Given the description of an element on the screen output the (x, y) to click on. 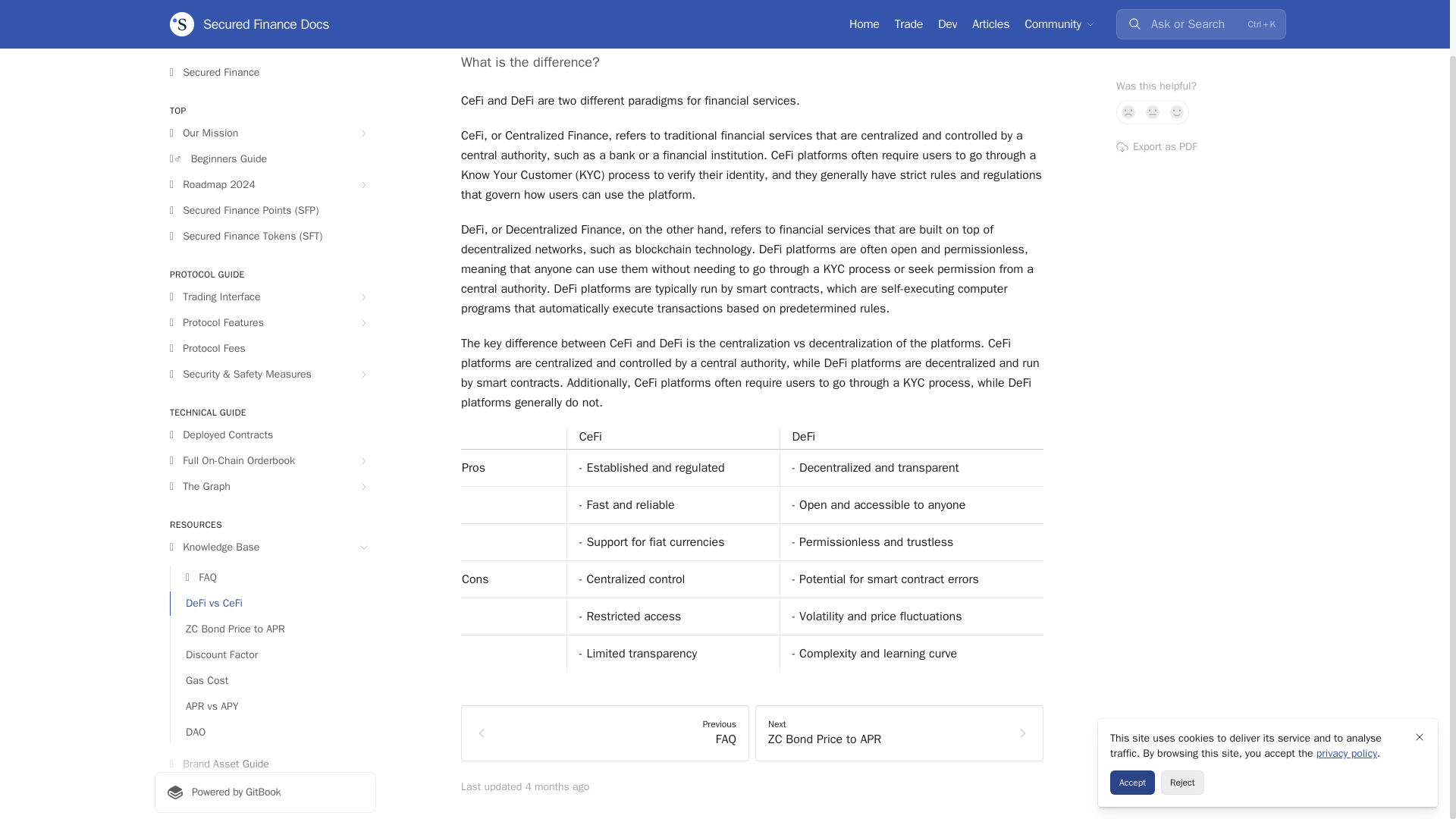
No (1200, 372)
Yes, it was! (1128, 51)
Not sure (1176, 51)
Close (1152, 51)
